Given the description of an element on the screen output the (x, y) to click on. 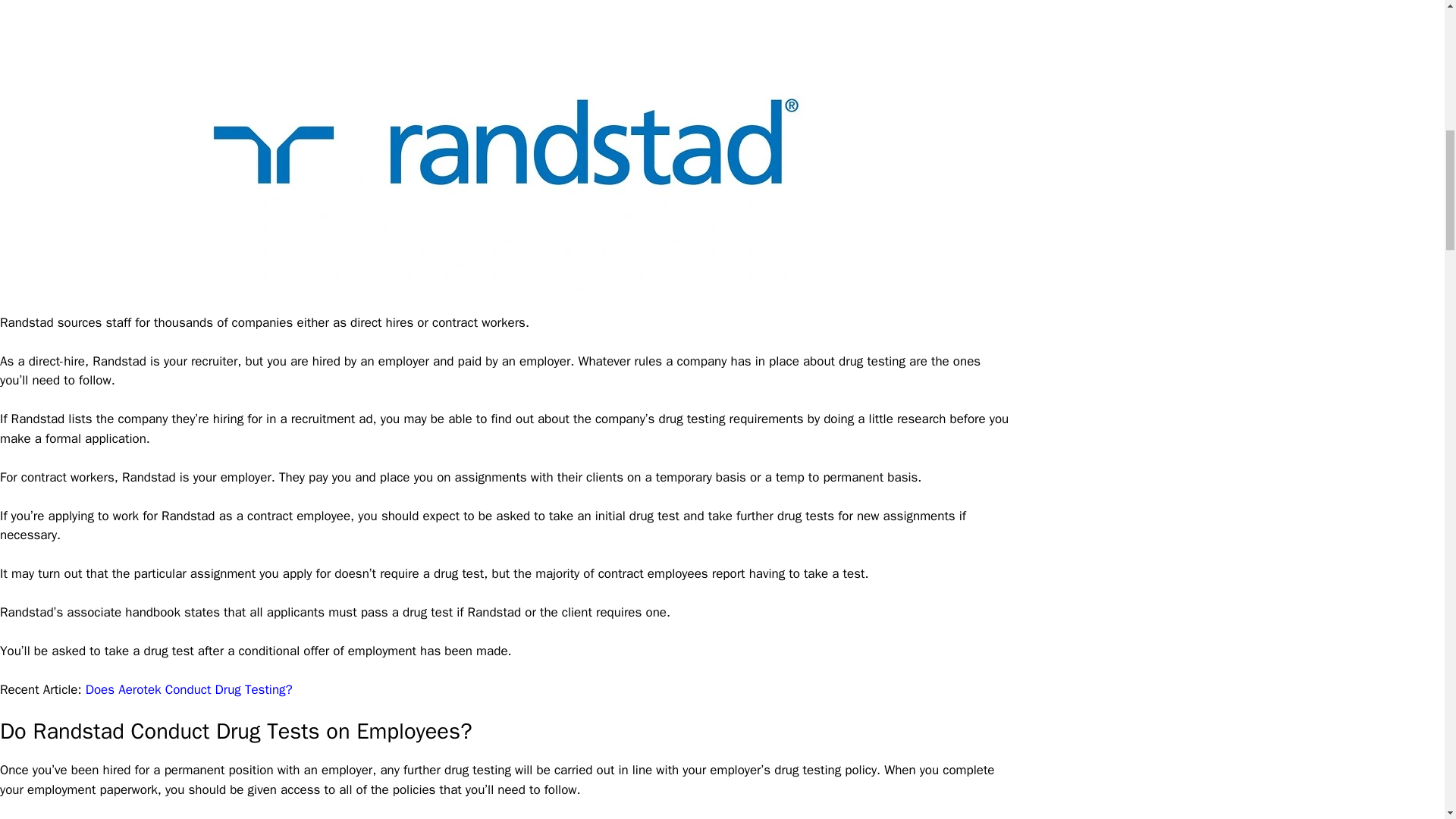
Does Aerotek Conduct Drug Testing? (188, 689)
